Given the description of an element on the screen output the (x, y) to click on. 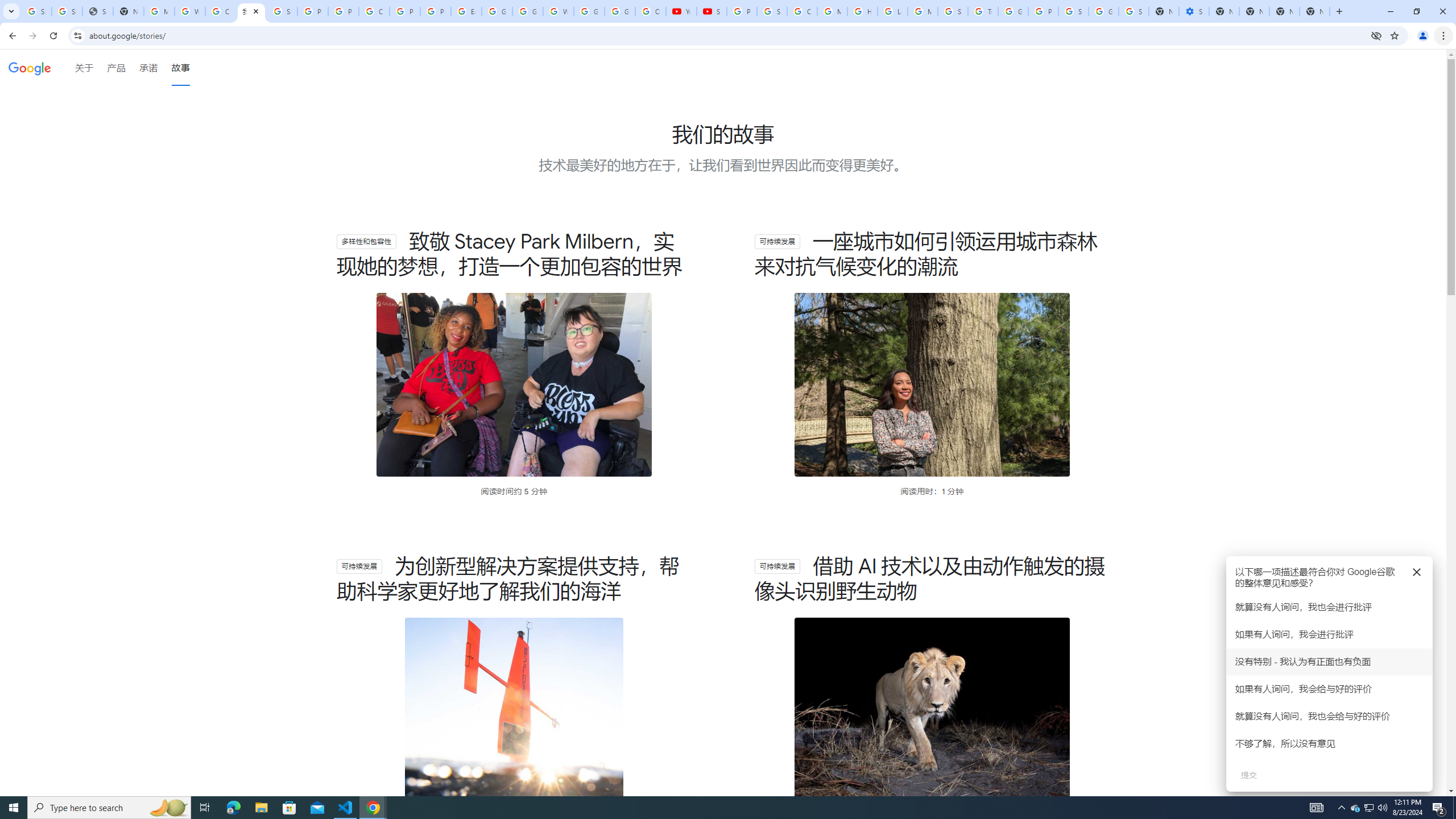
Settings - Performance (1193, 11)
Sign in - Google Accounts (771, 11)
Sign in - Google Accounts (66, 11)
Sign in - Google Accounts (1072, 11)
